Given the description of an element on the screen output the (x, y) to click on. 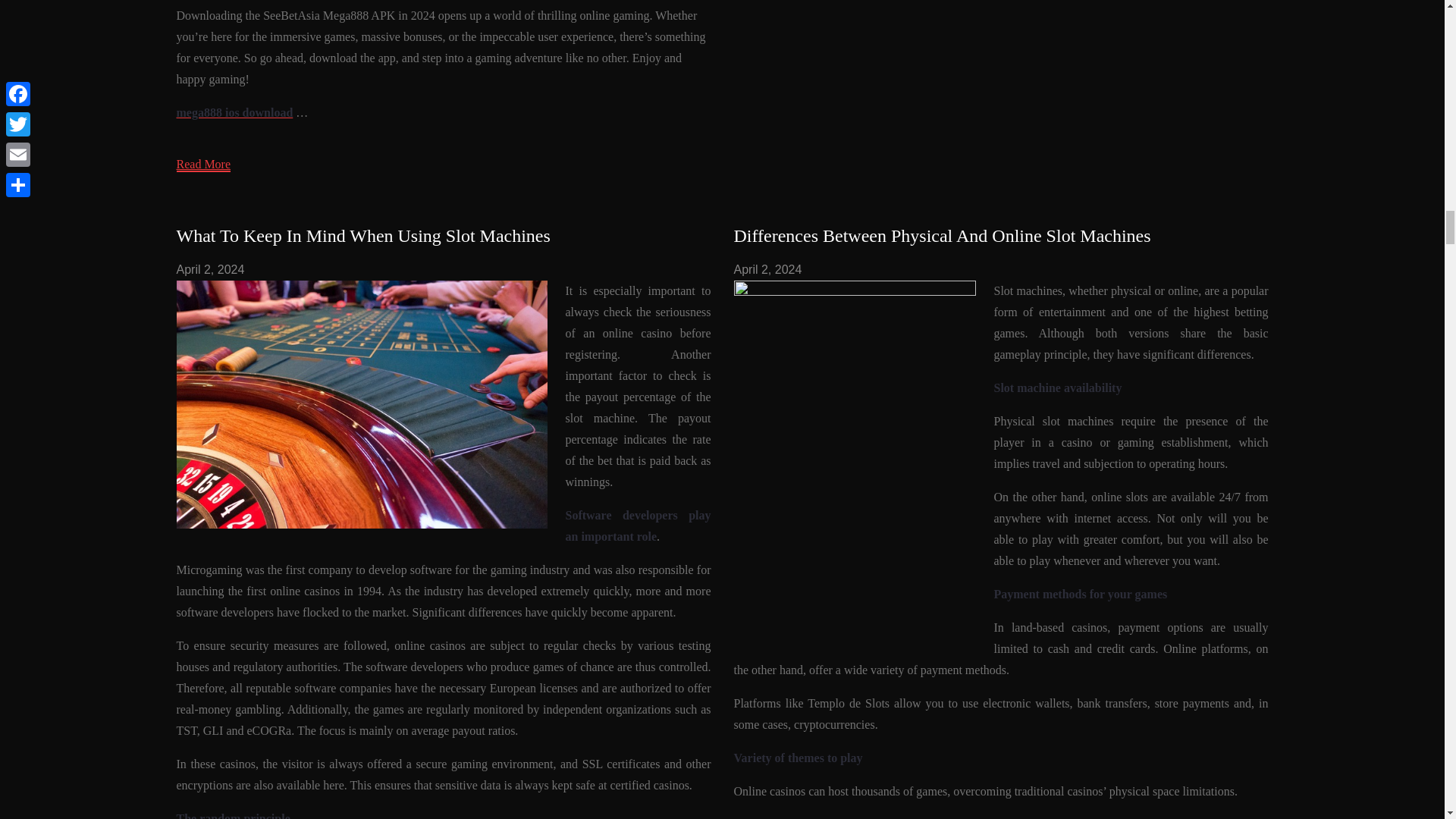
What To Keep In Mind When Using Slot Machines (363, 235)
April 2, 2024 (767, 269)
Read More (203, 164)
See the mega888 ios download in detail. (234, 112)
mega888 ios download (234, 112)
April 2, 2024 (210, 269)
Differences Between Physical And Online Slot Machines (942, 235)
